Given the description of an element on the screen output the (x, y) to click on. 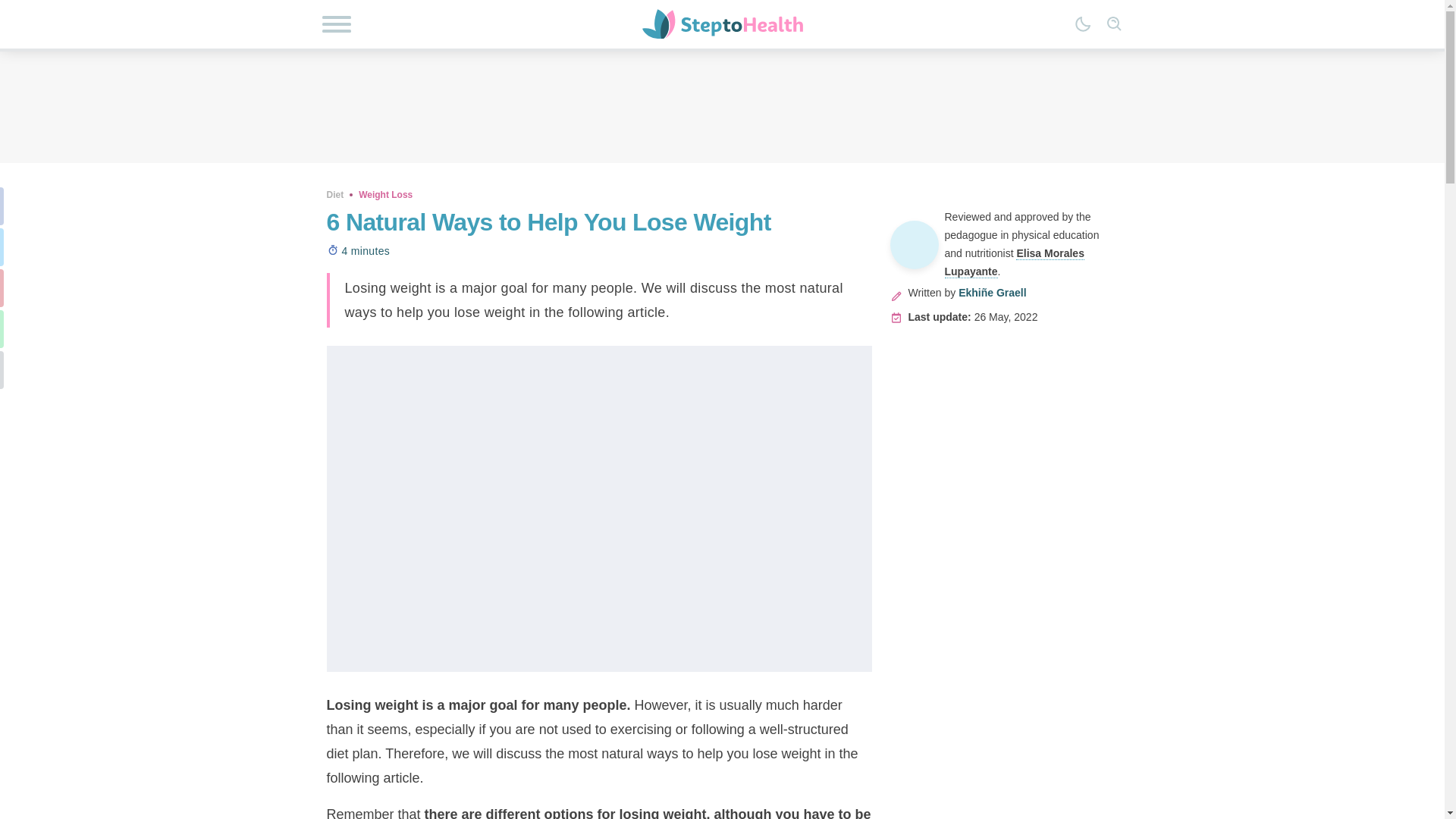
Weight Loss (385, 193)
Diet (334, 193)
Weight Loss (385, 193)
Elisa Morales Lupayante (1014, 262)
Diet (334, 193)
